Given the description of an element on the screen output the (x, y) to click on. 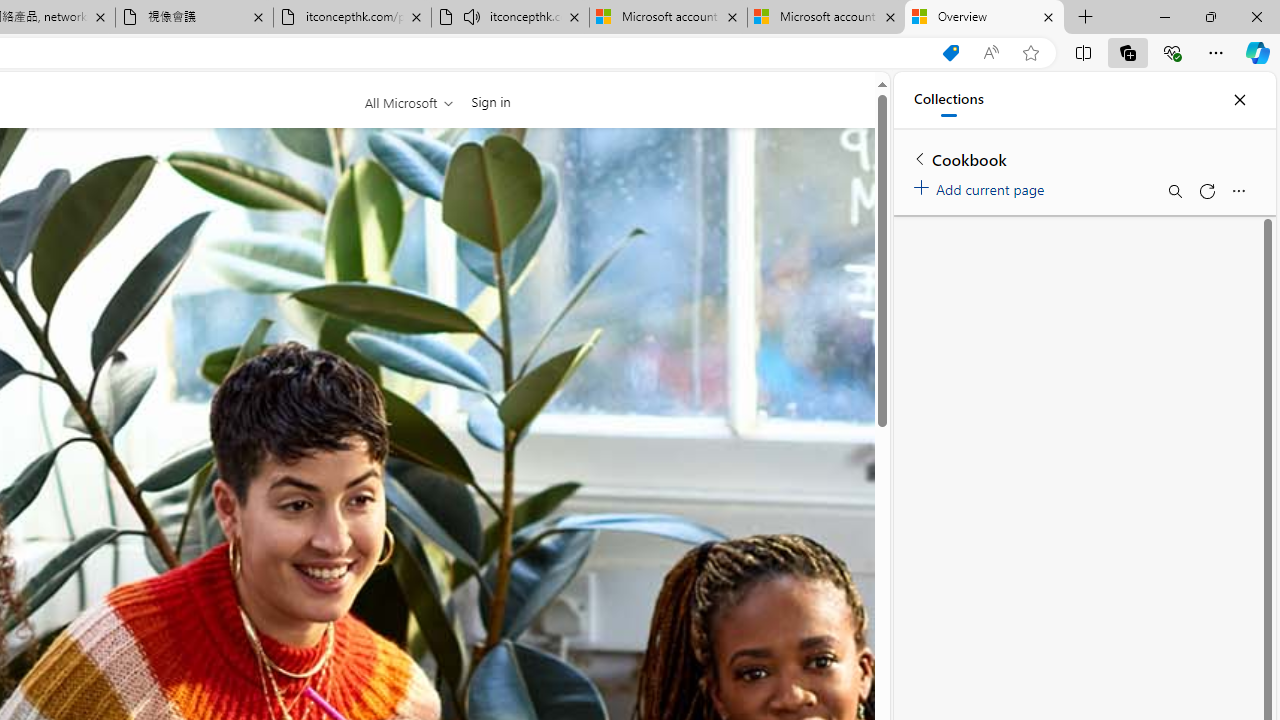
More options menu (1238, 190)
itconcepthk.com/projector_solutions.mp4 (352, 17)
itconcepthk.com/projector_solutions.mp4 - Audio playing (509, 17)
